Given the description of an element on the screen output the (x, y) to click on. 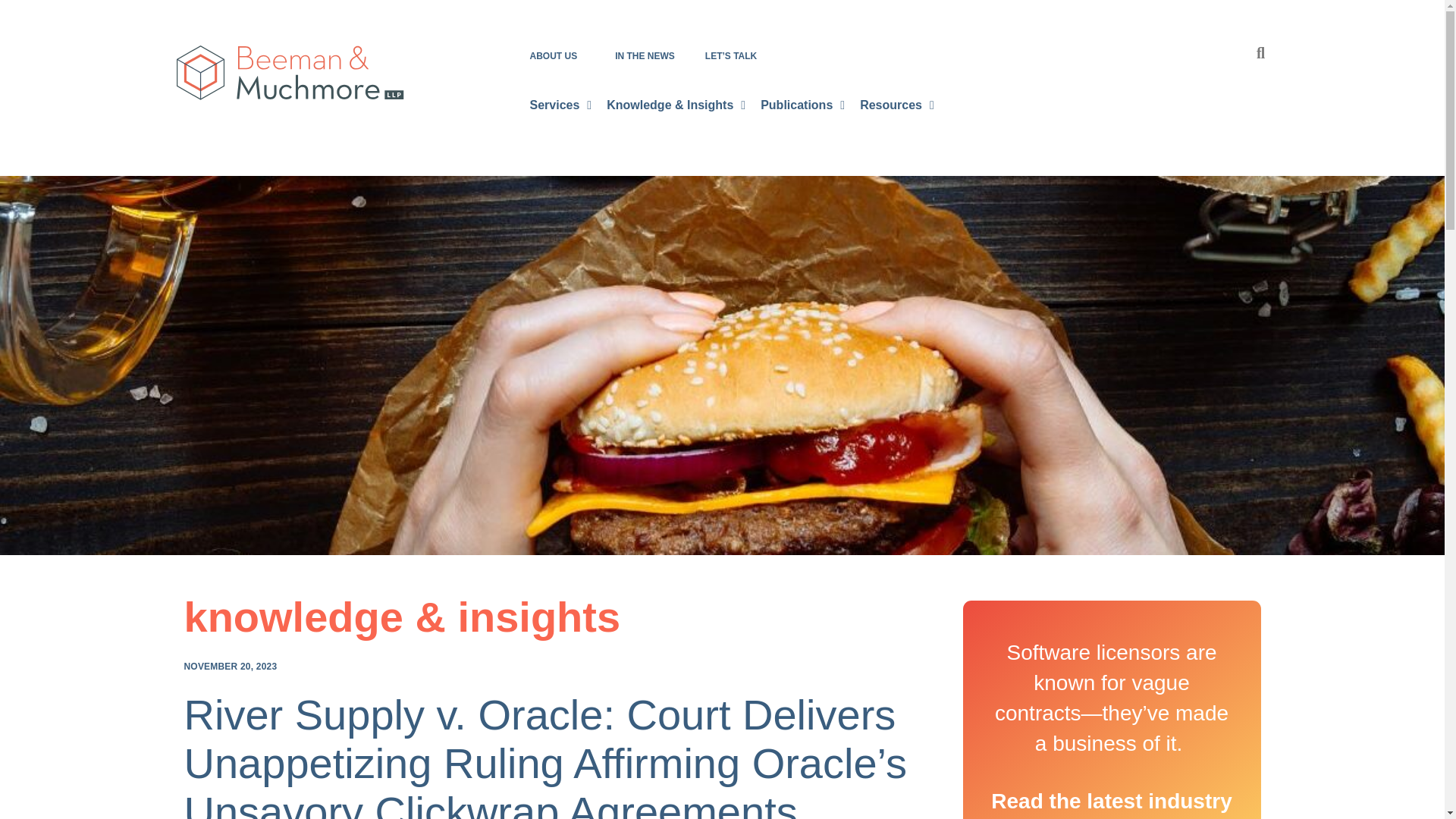
IN THE NEWS (644, 55)
Services (559, 105)
ABOUT US (556, 55)
